Given the description of an element on the screen output the (x, y) to click on. 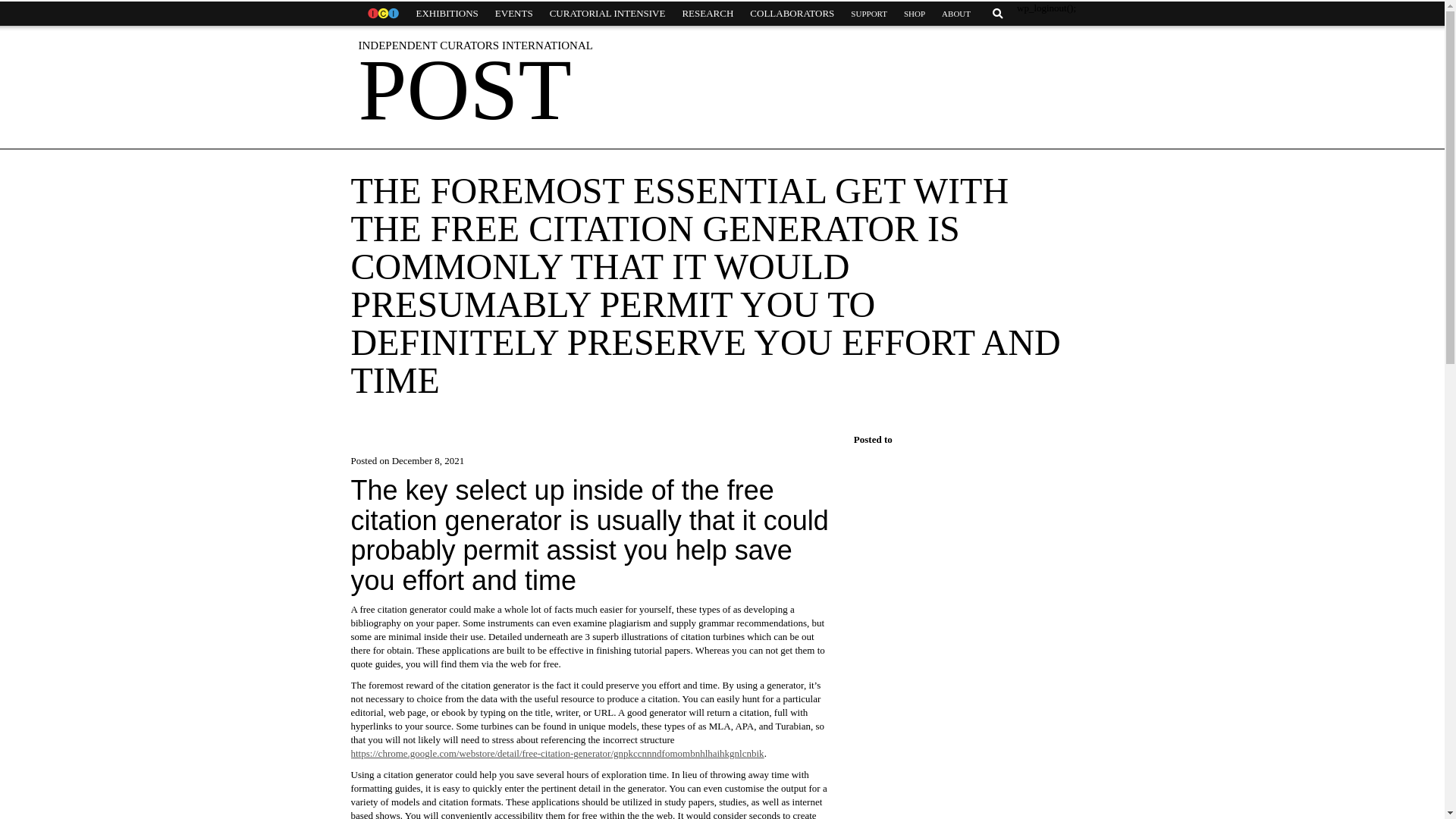
COLLABORATORS (792, 13)
RESEARCH (706, 13)
EXHIBITIONS (446, 13)
HOME (382, 13)
EVENTS (513, 13)
CURATORIAL INTENSIVE (607, 13)
